Given the description of an element on the screen output the (x, y) to click on. 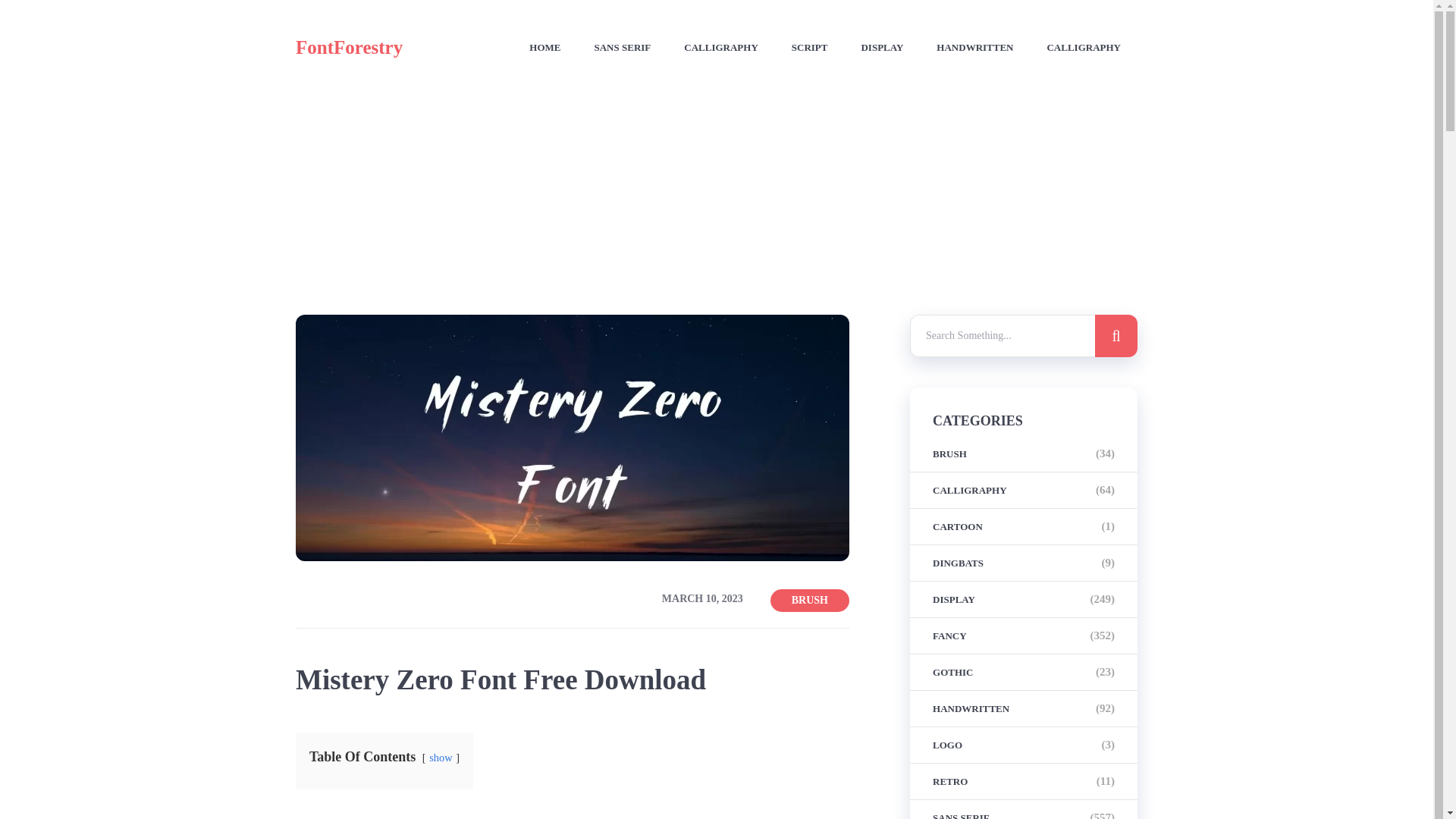
GOTHIC (952, 672)
SCRIPT (810, 47)
HOME (544, 47)
DINGBATS (958, 562)
CALLIGRAPHY (970, 490)
CARTOON (957, 526)
CALLIGRAPHY (721, 47)
FontForestry (349, 46)
HANDWRITTEN (974, 47)
show (440, 757)
